Given the description of an element on the screen output the (x, y) to click on. 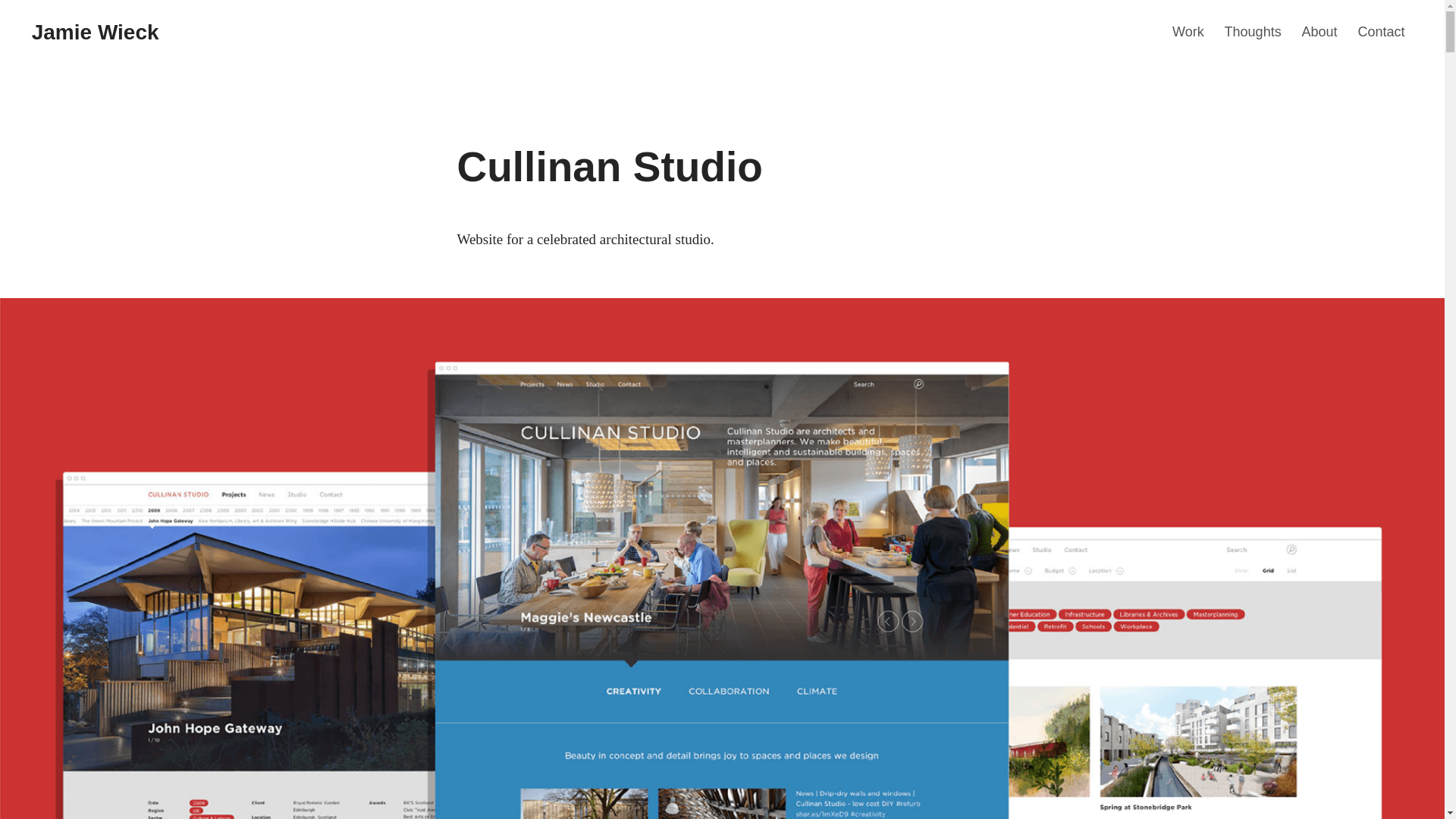
Thoughts (1252, 32)
Contact (1381, 32)
Work (1187, 32)
About (1319, 32)
Jamie Wieck (95, 32)
